Given the description of an element on the screen output the (x, y) to click on. 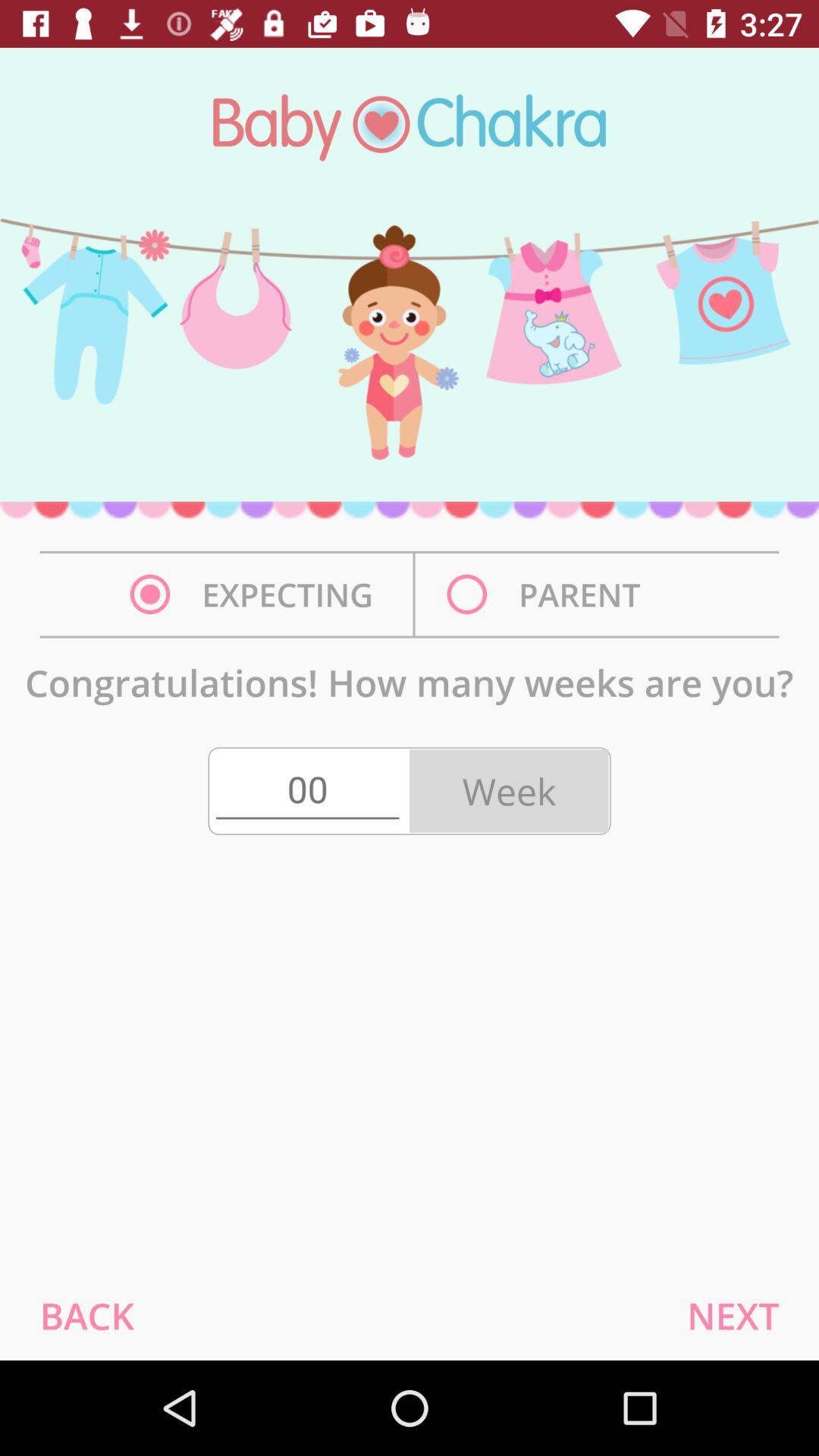
choose the parent on the right (547, 594)
